Given the description of an element on the screen output the (x, y) to click on. 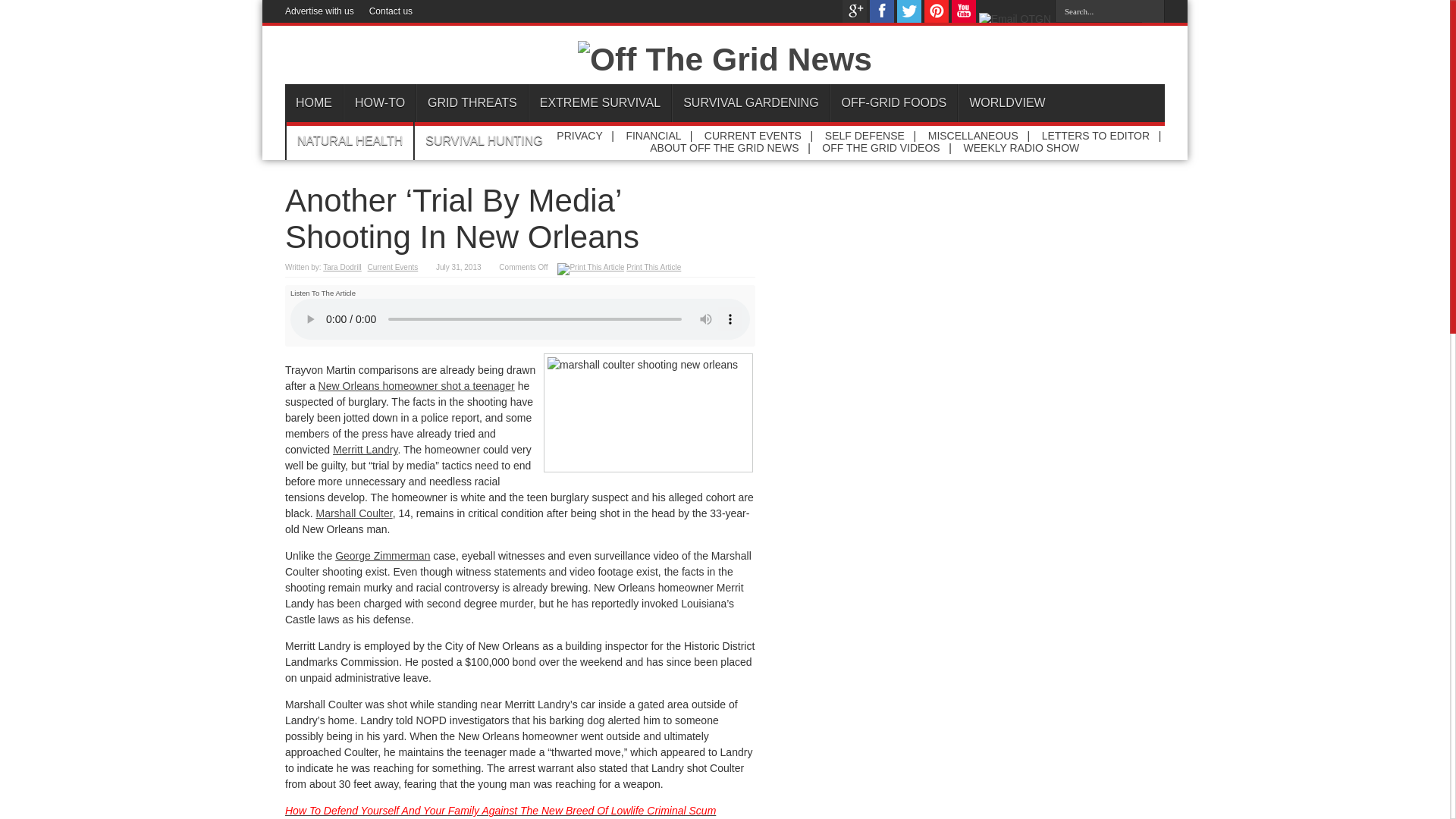
New Orleans homeowner shot a teenager (416, 386)
George Zimmerman (381, 555)
FINANCIAL (653, 135)
Off The Grid News (725, 58)
MISCELLANEOUS (972, 135)
OFF THE GRID VIDEOS (880, 147)
HOME (313, 103)
Search (1152, 11)
CURRENT EVENTS (753, 135)
Print This Article (653, 266)
Send an email to Off The Grid News (1014, 19)
Advertise with us (319, 11)
Print This Article (590, 266)
Search (1152, 11)
Tara Dodrill (342, 266)
